Given the description of an element on the screen output the (x, y) to click on. 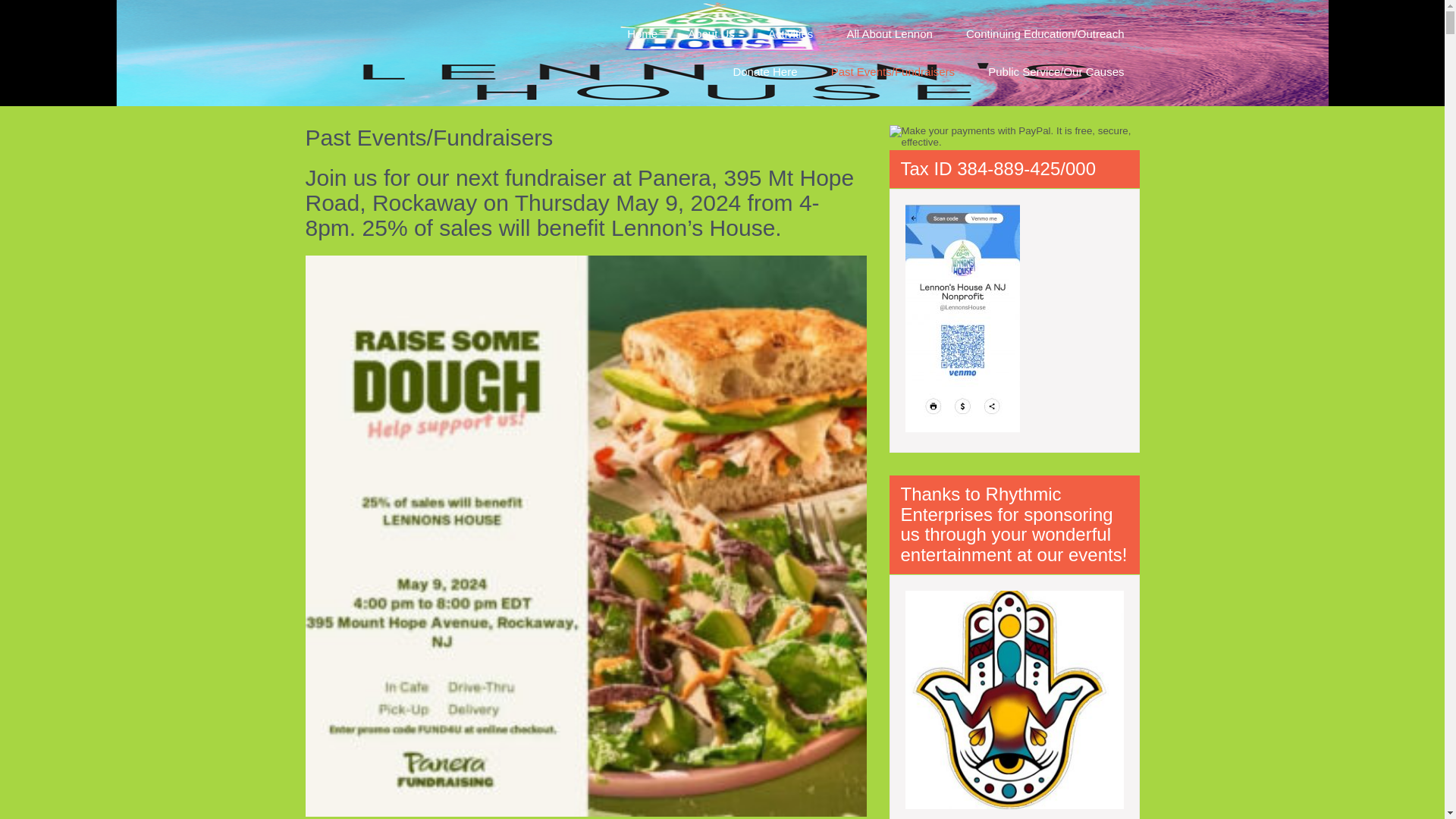
About Us (710, 34)
Activities (790, 34)
Donate Here (764, 71)
Home (641, 34)
All About Lennon (889, 34)
